Given the description of an element on the screen output the (x, y) to click on. 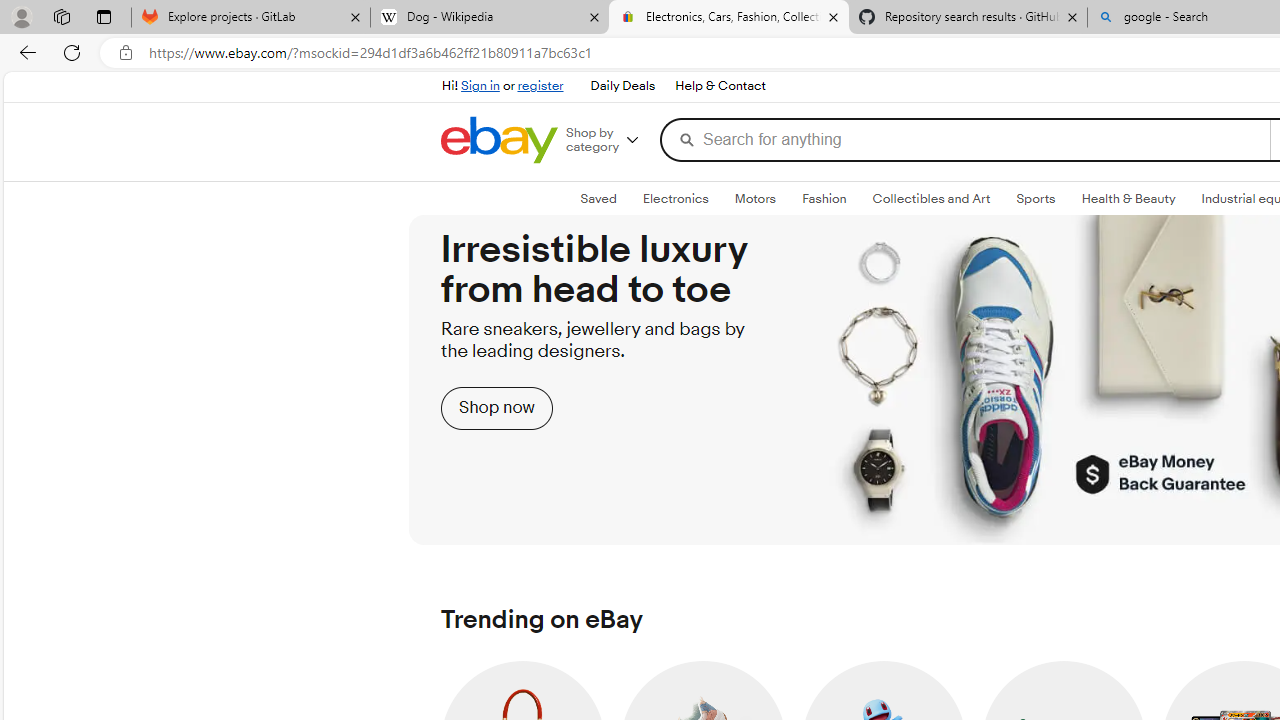
Help & Contact (719, 85)
Help & Contact (719, 86)
Electronics (675, 198)
Saved (598, 199)
ElectronicsExpand: Electronics (674, 199)
Daily Deals (621, 85)
Health & Beauty (1128, 198)
eBay Home (499, 139)
